Given the description of an element on the screen output the (x, y) to click on. 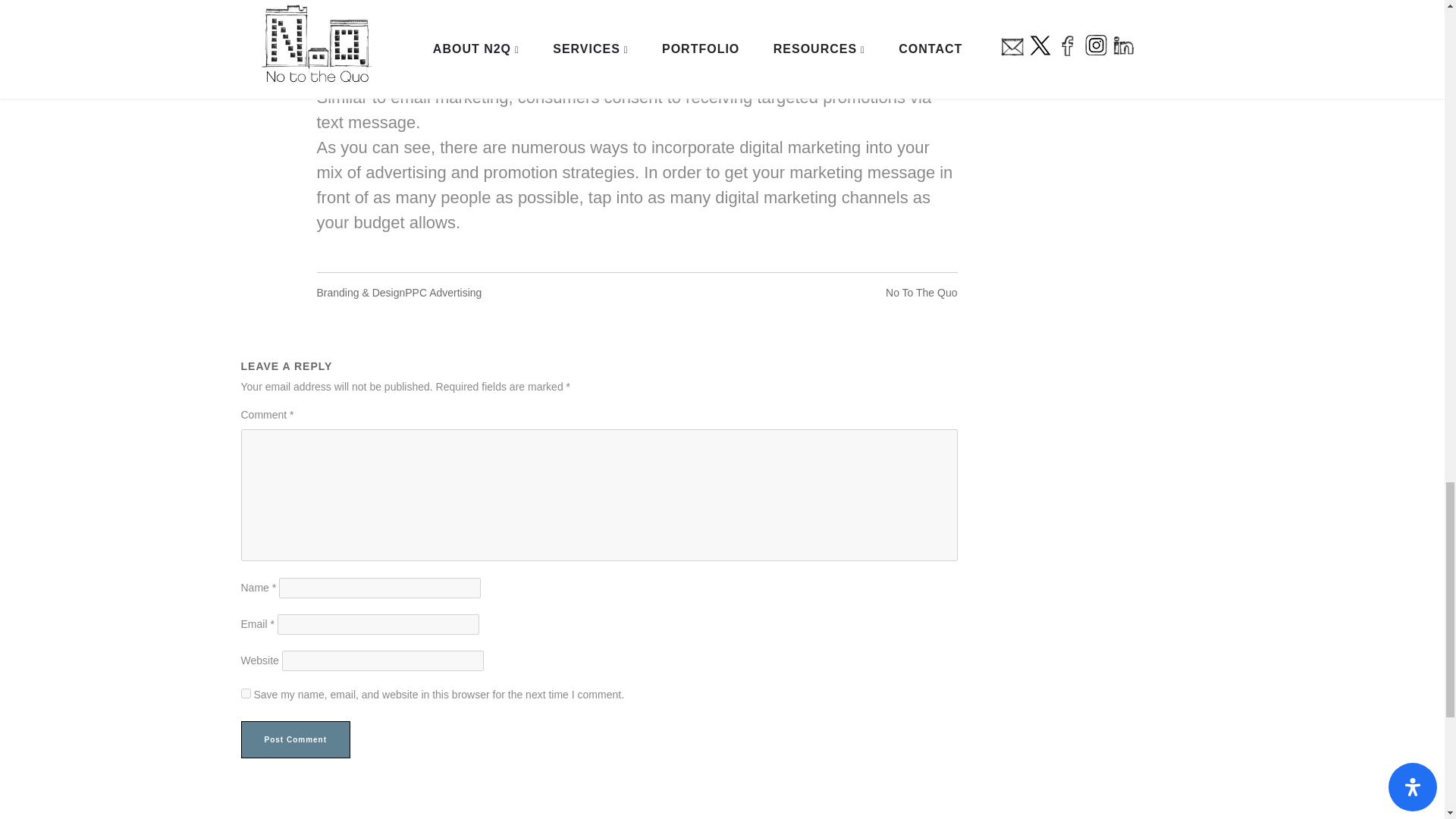
Post Comment (295, 739)
yes (245, 693)
